Given the description of an element on the screen output the (x, y) to click on. 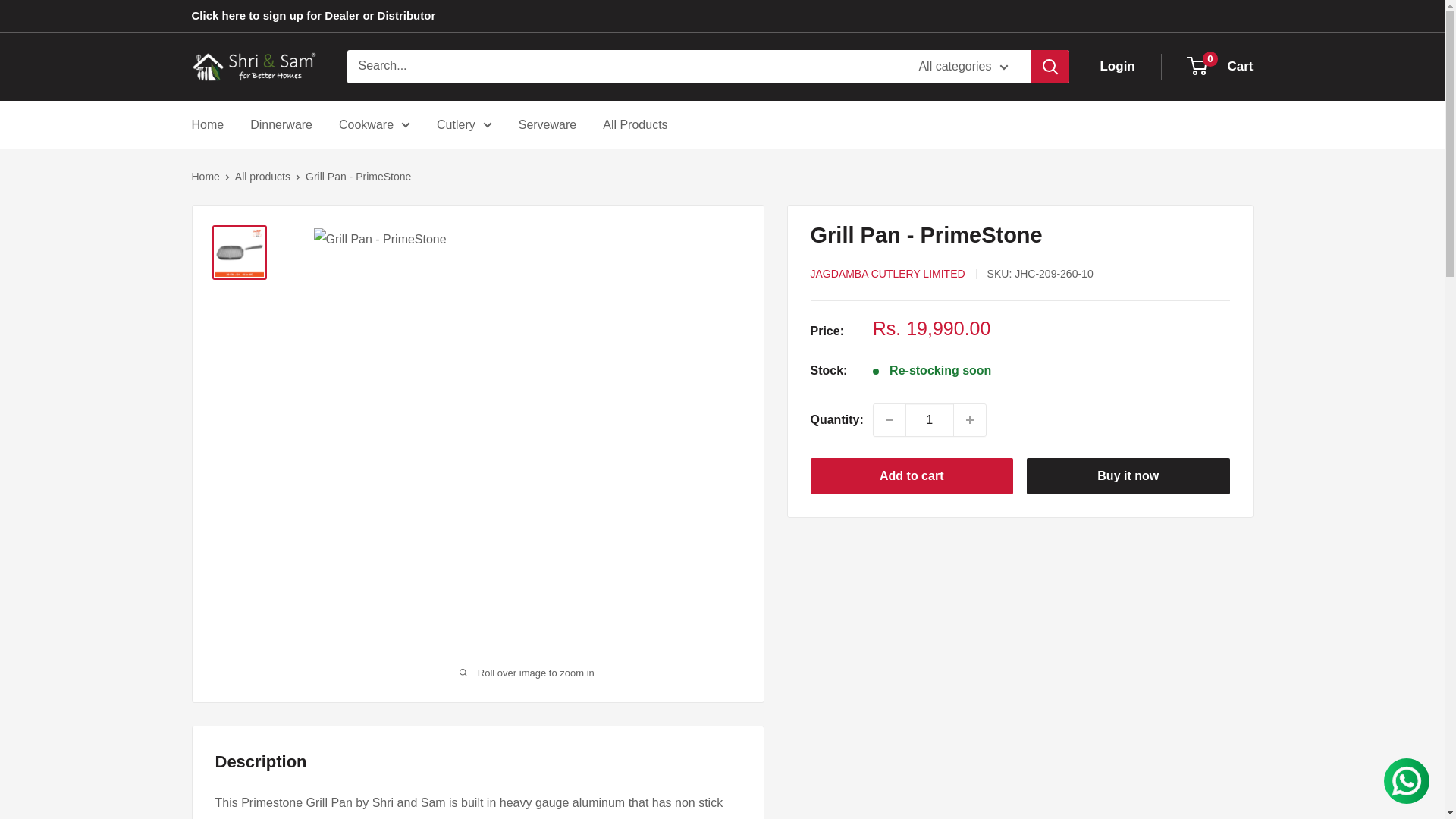
Increase quantity by 1 (969, 419)
Click here to sign up for Dealer or Distributor (312, 15)
Cutlery (464, 124)
1 (929, 419)
Cookware (374, 124)
Login (1116, 66)
Home (207, 124)
shriandsamindia (252, 66)
Dinnerware (1220, 66)
Decrease quantity by 1 (281, 124)
